Given the description of an element on the screen output the (x, y) to click on. 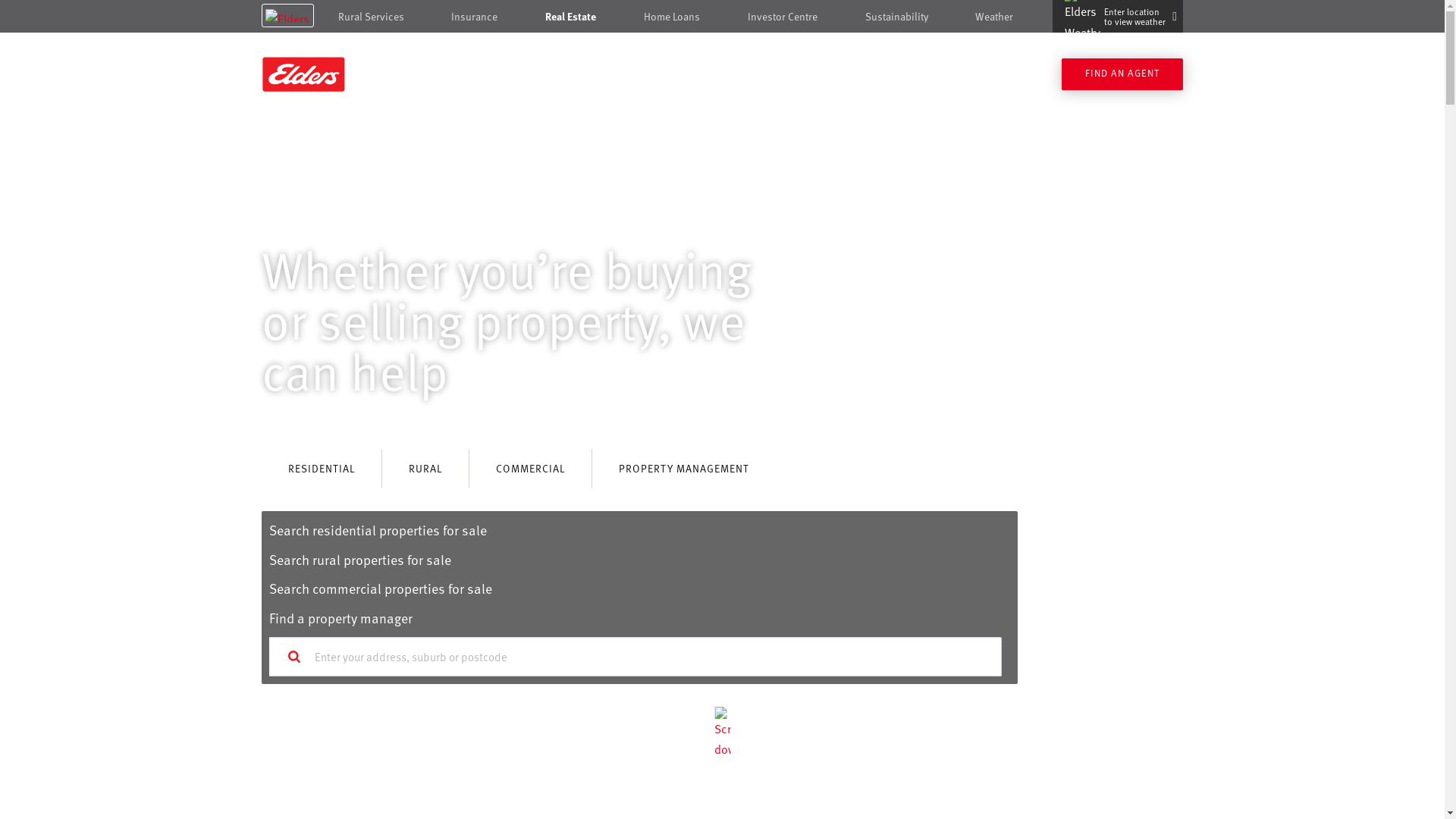
Real Estate Element type: text (570, 16)
Skip to content Element type: text (722, 17)
Rural Services Element type: text (371, 16)
Sustainability Element type: text (896, 16)
Real Estate Element type: text (369, 74)
PROPERTY MANAGEMENT Element type: text (683, 468)
Enter location to view weather Element type: text (1117, 16)
FIND AN AGENT Element type: text (1122, 74)
Home Loans Element type: text (671, 16)
Insurance Element type: text (474, 16)
Commercial Element type: text (920, 75)
RESIDENTIAL Element type: text (321, 468)
Weather Element type: text (994, 16)
Investor Centre Element type: text (782, 16)
COMMERCIAL Element type: text (530, 468)
RURAL Element type: text (425, 468)
Property Management Element type: text (802, 75)
Residential Element type: text (629, 75)
Rural Element type: text (702, 75)
The View Element type: text (1004, 75)
